Given the description of an element on the screen output the (x, y) to click on. 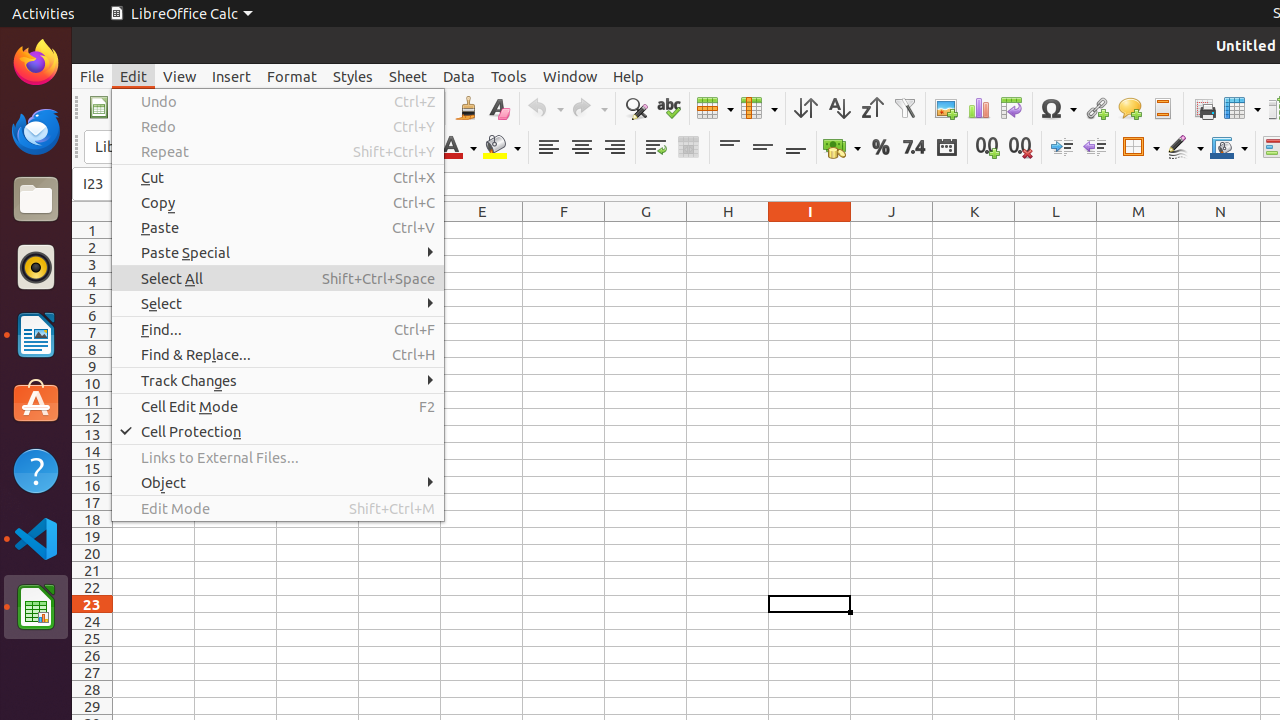
AutoFilter Element type: push-button (904, 108)
Date Element type: push-button (946, 147)
Row Element type: push-button (715, 108)
K1 Element type: table-cell (974, 230)
Merge and Center Cells Element type: push-button (688, 147)
